Given the description of an element on the screen output the (x, y) to click on. 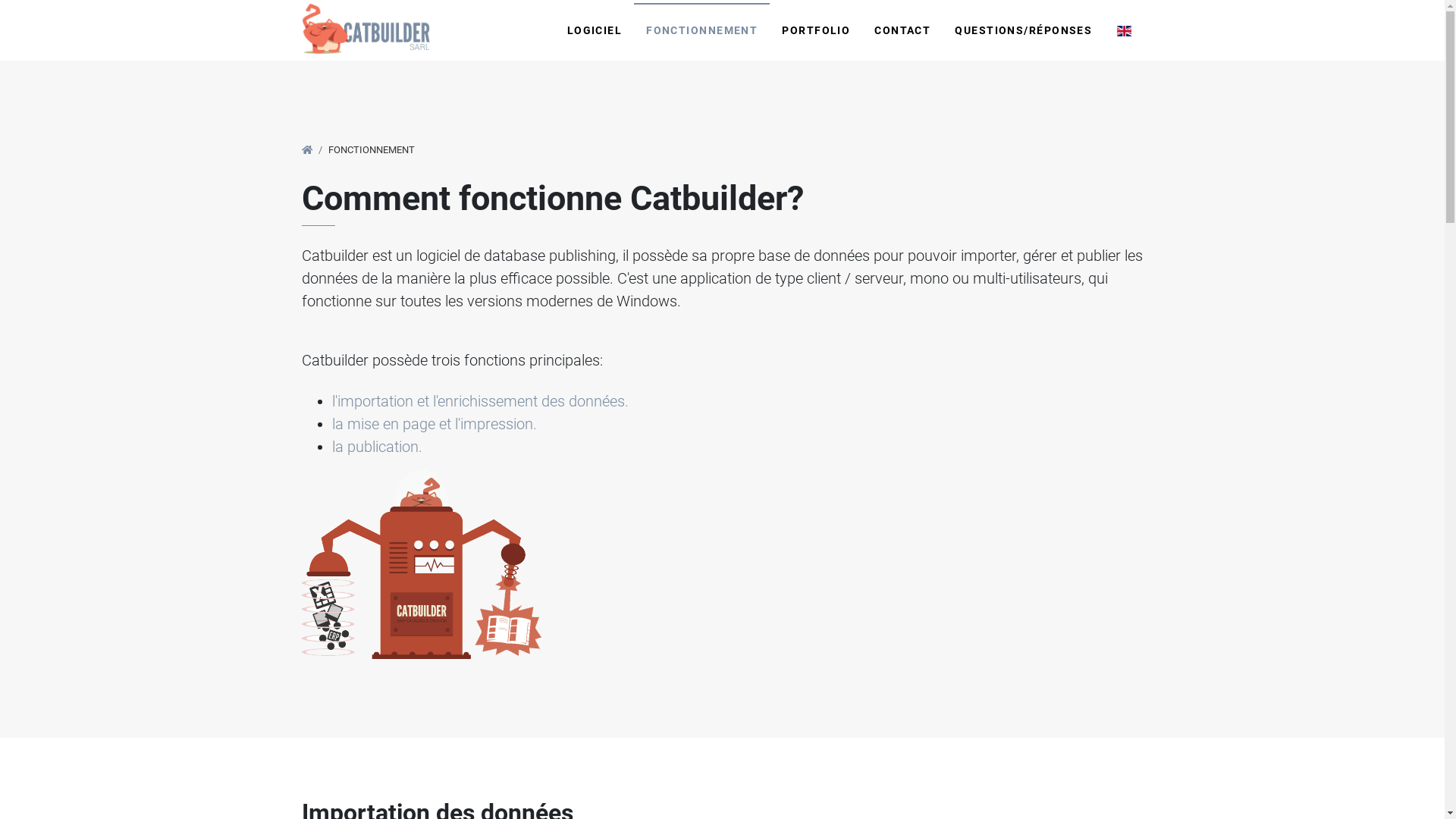
PORTFOLIO Element type: text (815, 30)
CONTACT Element type: text (902, 30)
la mise en page et l'impression. Element type: text (434, 423)
la publication. Element type: text (377, 446)
LOGICIEL Element type: text (594, 30)
FONCTIONNEMENT Element type: text (701, 30)
